Given the description of an element on the screen output the (x, y) to click on. 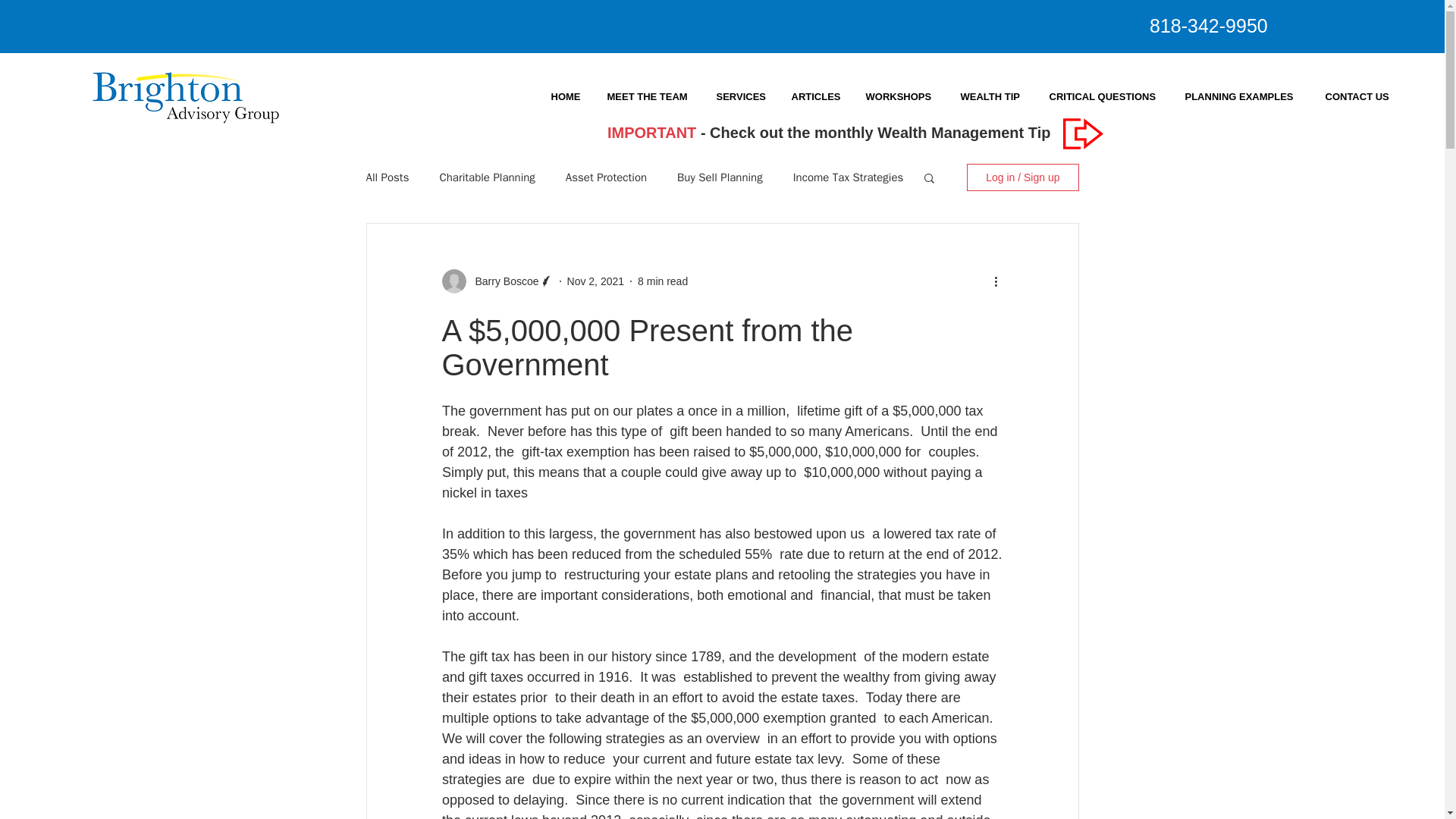
MEET THE TEAM (648, 96)
Charitable Planning (486, 176)
CRITICAL QUESTIONS (1104, 96)
Income Tax Strategies (848, 176)
HOME (566, 96)
ARTICLES (815, 96)
Buy Sell Planning (719, 176)
WORKSHOPS (901, 96)
Asset Protection (606, 176)
8 min read (662, 280)
SERVICES (740, 96)
WEALTH TIP (991, 96)
CONTACT US (1359, 96)
818-342-9950 (1209, 25)
PLANNING EXAMPLES (1242, 96)
